Given the description of an element on the screen output the (x, y) to click on. 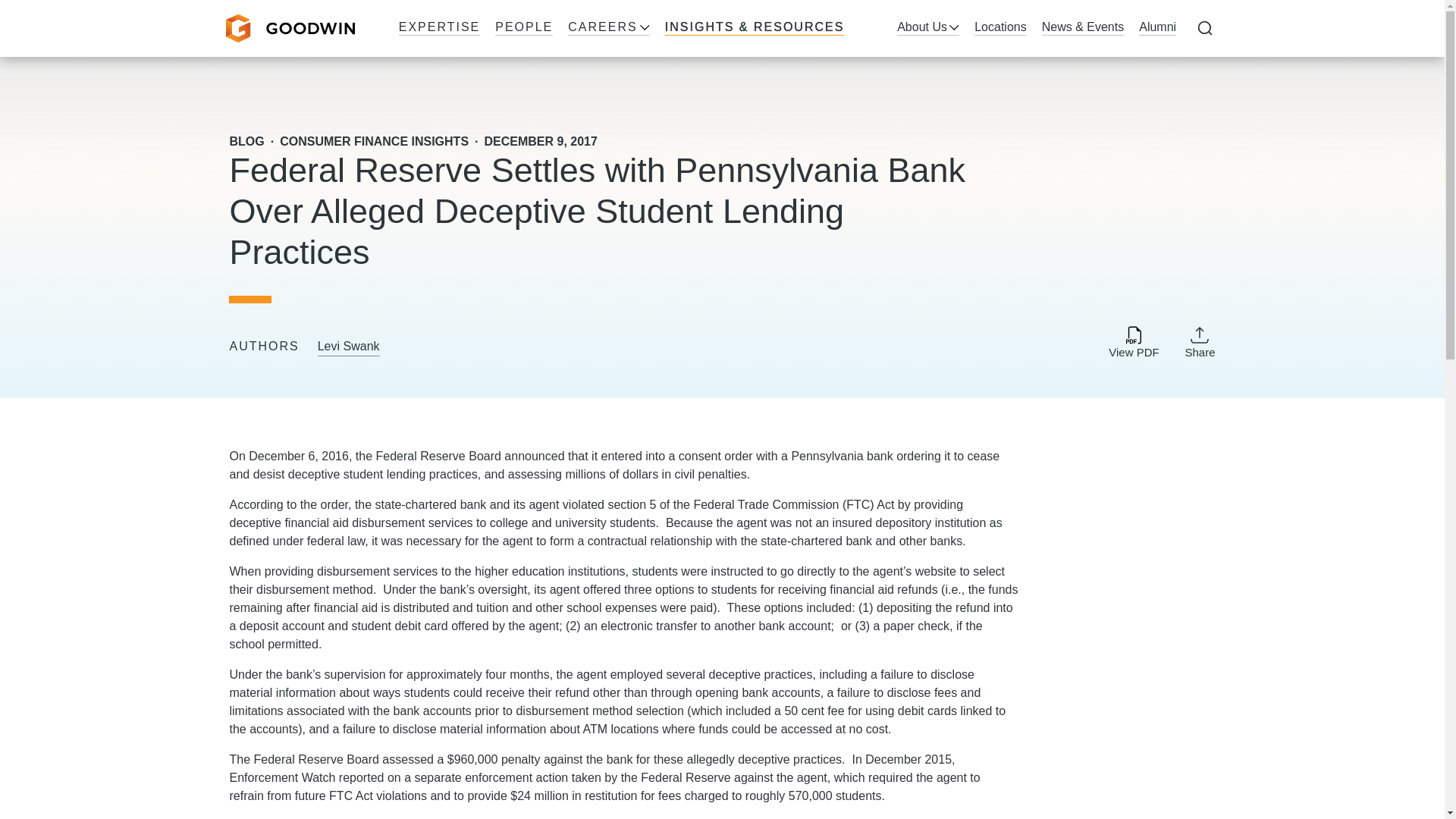
Levi Swank (348, 347)
PEOPLE (524, 28)
Alumni (1157, 28)
consent order  (716, 455)
announced (533, 455)
About Us (927, 28)
Share (1199, 341)
reported (361, 777)
View PDF (1133, 343)
EXPERTISE (439, 28)
CAREERS (608, 28)
Goodwin (290, 28)
Locations (1000, 28)
